Given the description of an element on the screen output the (x, y) to click on. 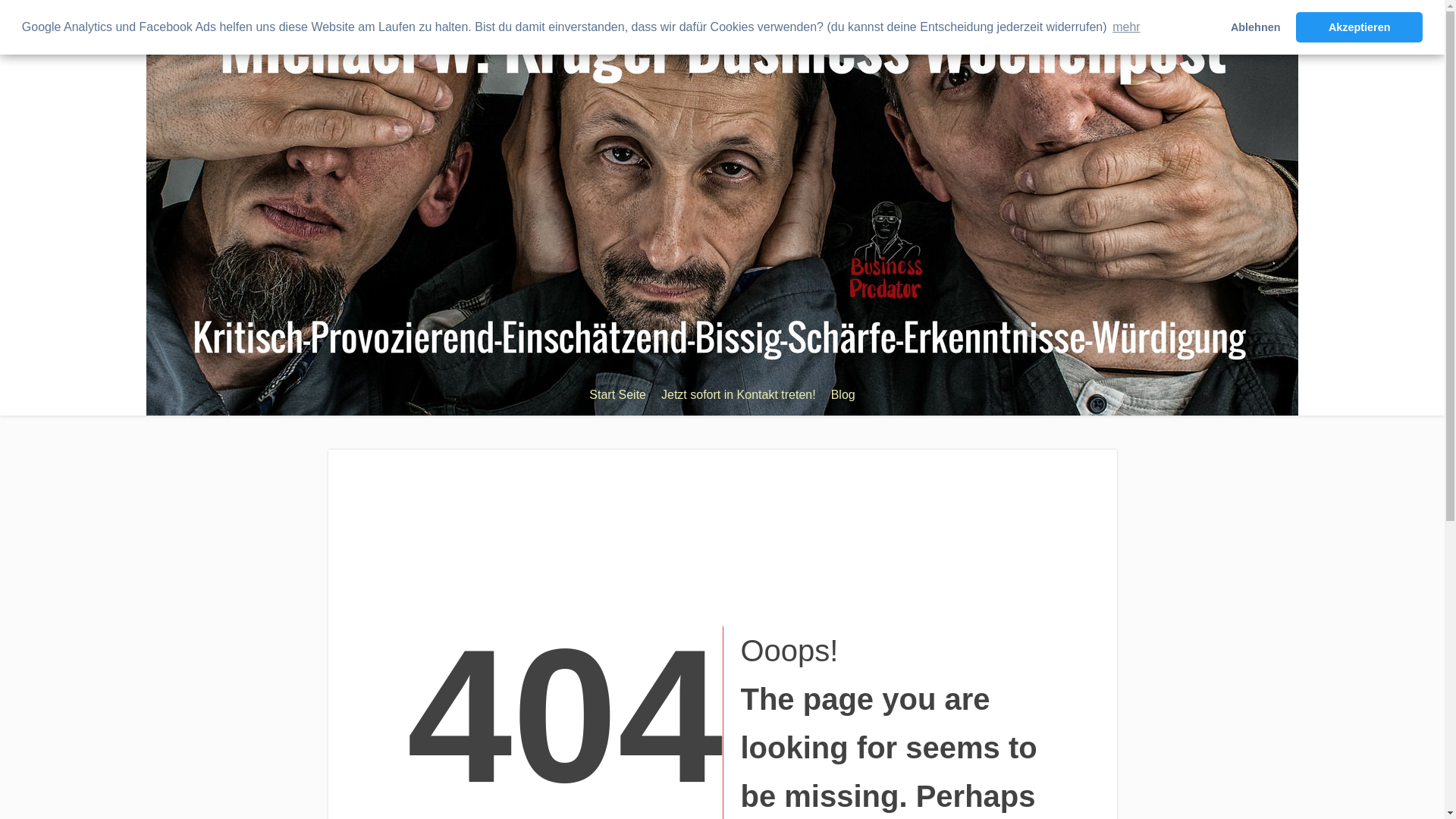
Jetzt sofort in Kontakt treten! Element type: text (738, 394)
mehr Element type: text (1126, 26)
Akzeptieren Element type: text (1358, 27)
Start Seite Element type: text (617, 394)
Ablehnen Element type: text (1255, 27)
Blog Element type: text (842, 394)
